Given the description of an element on the screen output the (x, y) to click on. 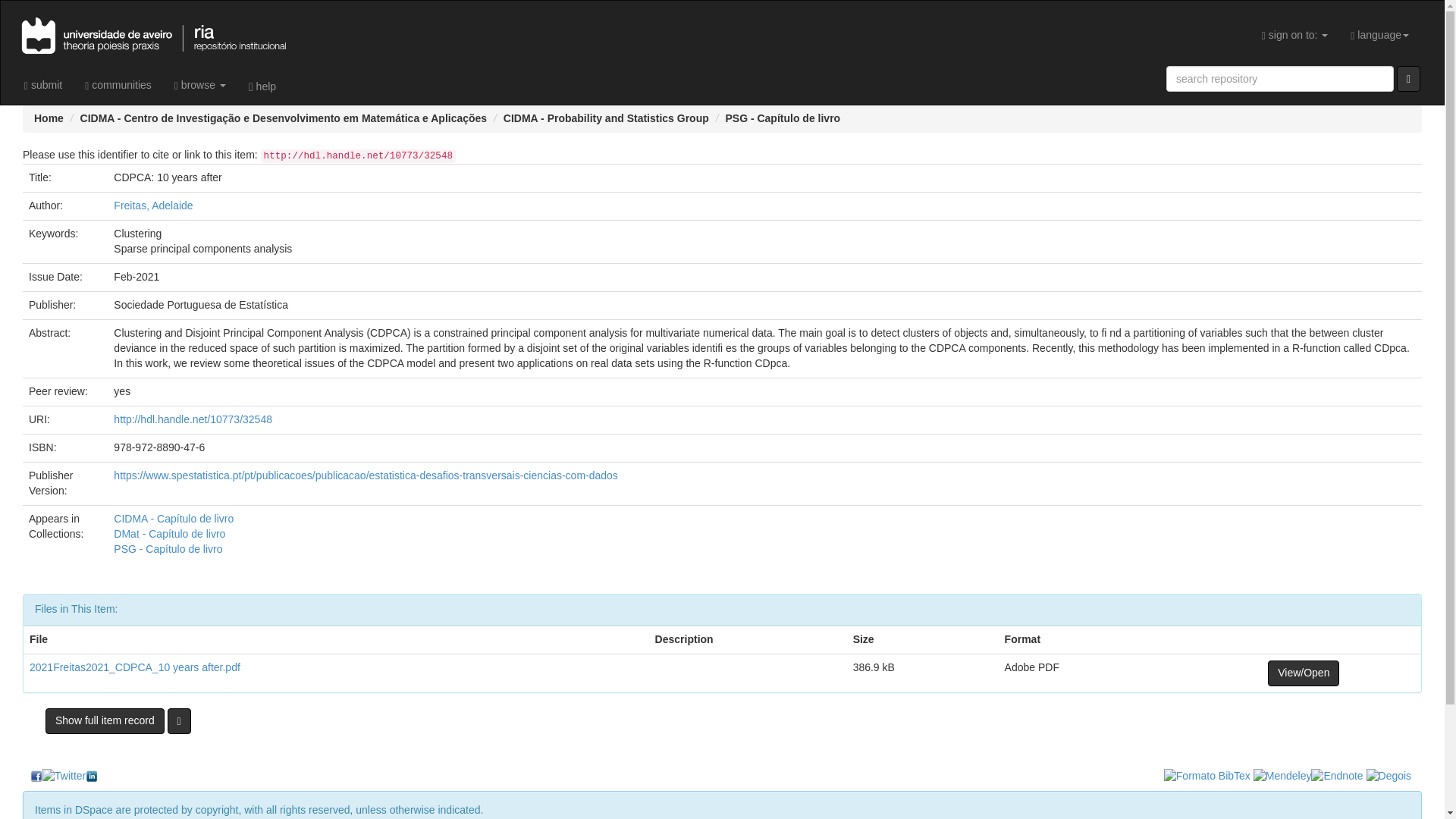
Partilhe no Facebook (36, 776)
Show full item record (104, 720)
language (1380, 35)
sign on to: (1294, 35)
CIDMA - Probability and Statistics Group (606, 118)
Home (48, 118)
submit (43, 85)
Freitas, Adelaide (152, 205)
Adicione ao Mendeley (1282, 776)
Exporte no formato BibTex (1206, 776)
Partilhe no Twitter (63, 776)
communities (118, 85)
Exporte no formato Endnote (1336, 776)
Partilhe no LinkedIn (91, 776)
help (261, 86)
